Given the description of an element on the screen output the (x, y) to click on. 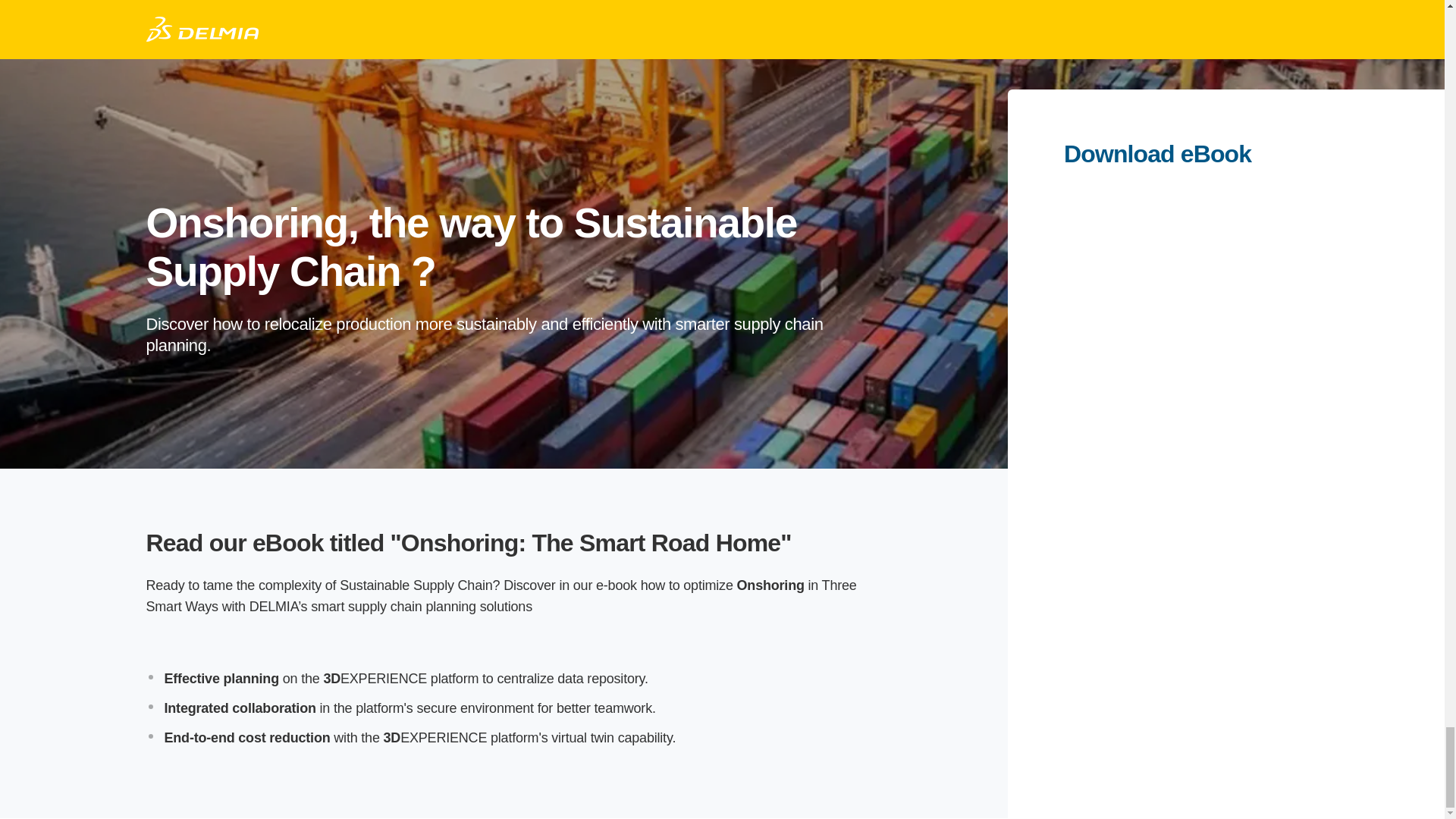
Download eBook (1226, 153)
